Given the description of an element on the screen output the (x, y) to click on. 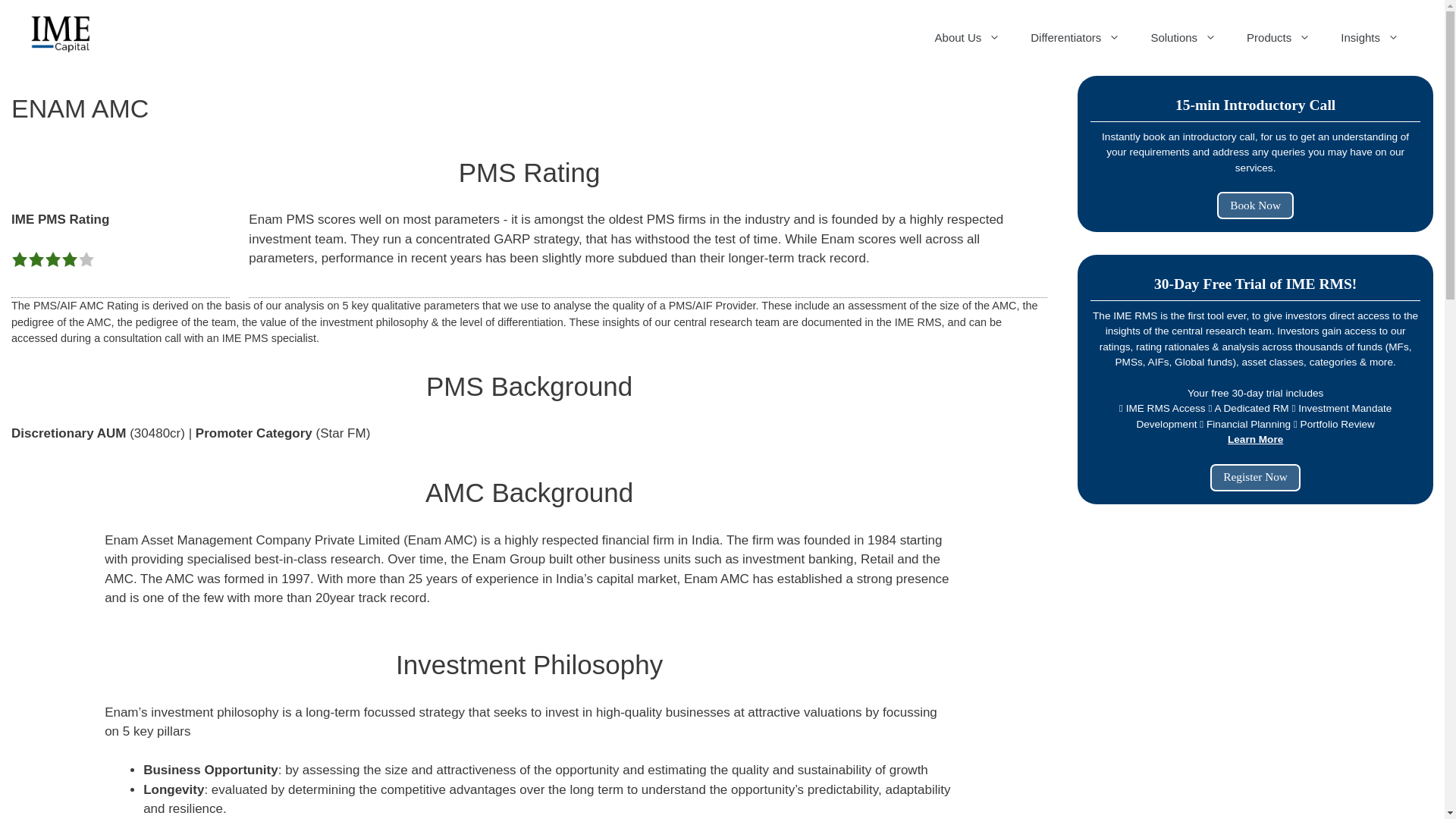
Differentiators (1074, 37)
IME Capital (60, 33)
Solutions (1183, 37)
Products (1277, 37)
IME Capital (60, 32)
Insights (1368, 37)
About Us (968, 37)
